Given the description of an element on the screen output the (x, y) to click on. 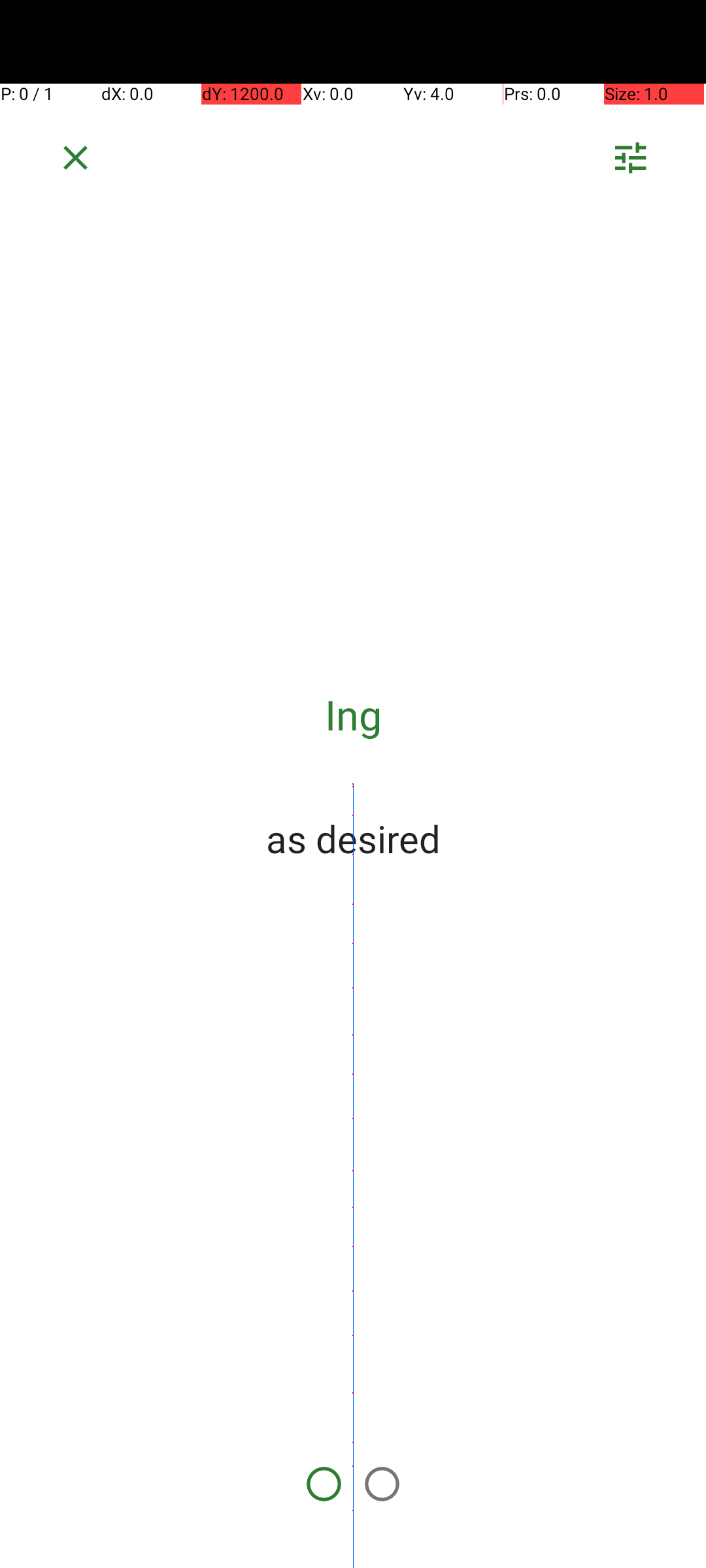
as desired Element type: android.widget.TextView (352, 838)
